Given the description of an element on the screen output the (x, y) to click on. 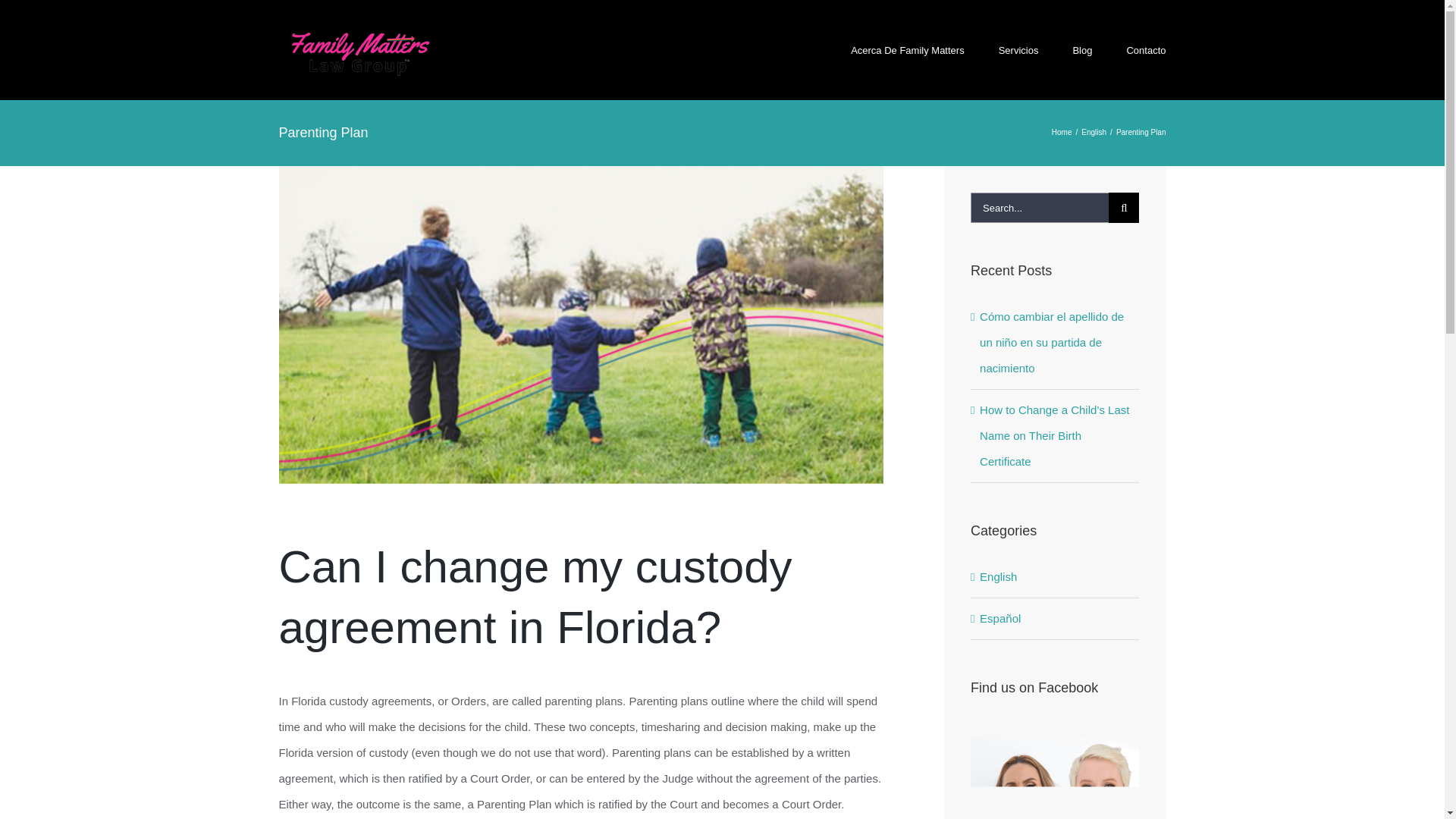
Acerca De Family Matters (906, 49)
English (1055, 576)
Home (1061, 131)
English (1093, 131)
